Given the description of an element on the screen output the (x, y) to click on. 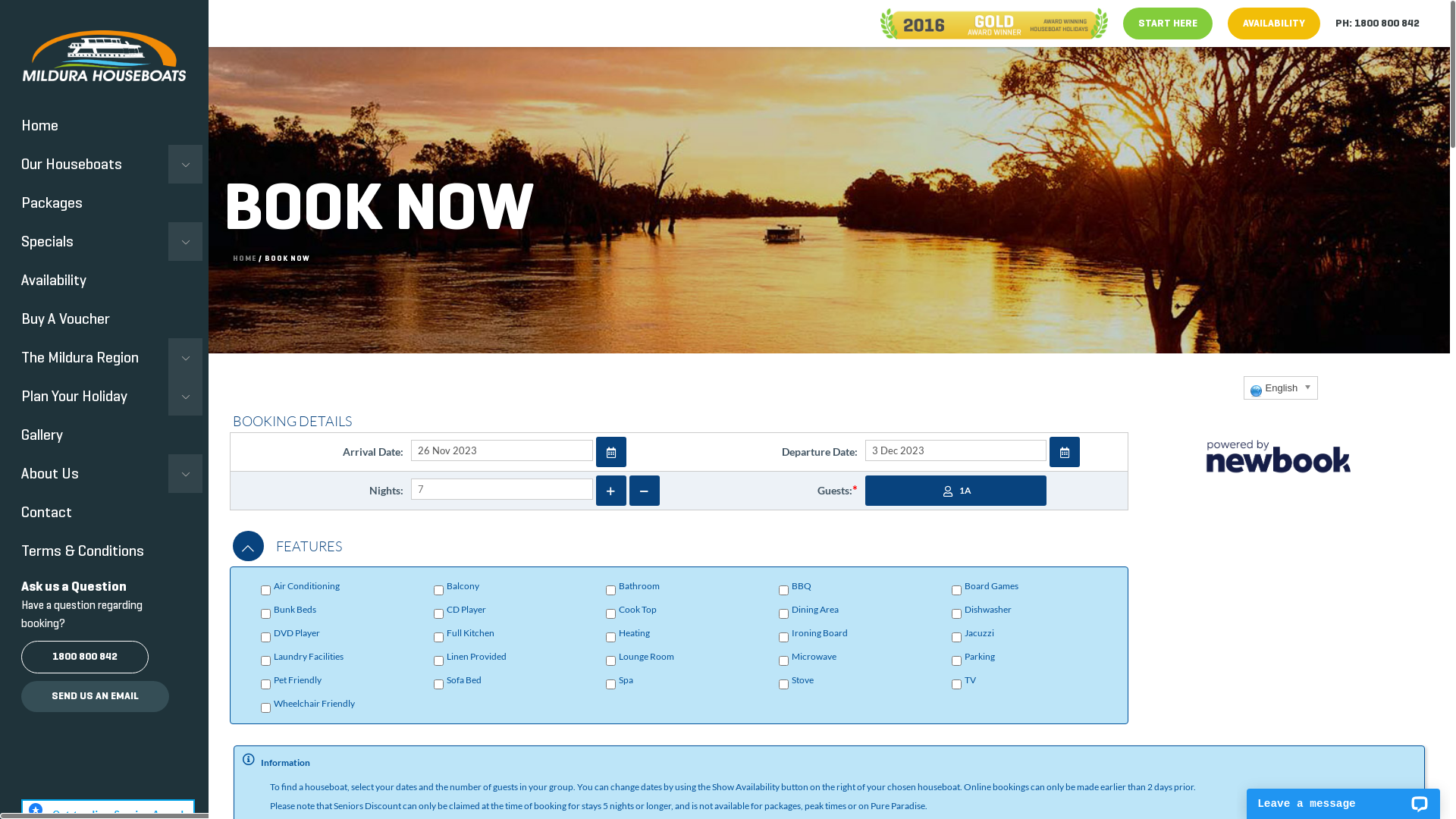
English Element type: text (1280, 387)
Packages Element type: text (101, 202)
Reduce number of Nights Element type: hover (644, 490)
Specials Element type: text (101, 241)
About Us Element type: text (101, 473)
Add number of Nights Element type: hover (611, 490)
Contact Element type: text (101, 511)
Add number of Nights Element type: hover (611, 491)
Newbook - Connected Hospitality Management Solution Element type: hover (1278, 452)
Our Houseboats Element type: text (101, 163)
Choose a Date Element type: hover (611, 452)
1A Element type: text (955, 490)
Plan Your Holiday Element type: text (101, 395)
SEND US AN EMAIL Element type: text (95, 696)
Choose a Date Element type: hover (611, 451)
HOME Element type: text (244, 258)
Choose a Date Element type: hover (1064, 451)
The Mildura Region Element type: text (101, 357)
START HERE Element type: text (1167, 23)
Home Element type: text (101, 125)
Buy A Voucher Element type: text (101, 318)
Reduce number of Nights Element type: hover (644, 491)
Choose a Date Element type: hover (1064, 452)
1800 800 842 Element type: text (84, 656)
Terms & Conditions Element type: text (101, 550)
Availability Element type: text (101, 279)
AVAILABILITY Element type: text (1273, 23)
PH: 1800 800 842 Element type: text (1377, 23)
Gallery Element type: text (101, 434)
